Given the description of an element on the screen output the (x, y) to click on. 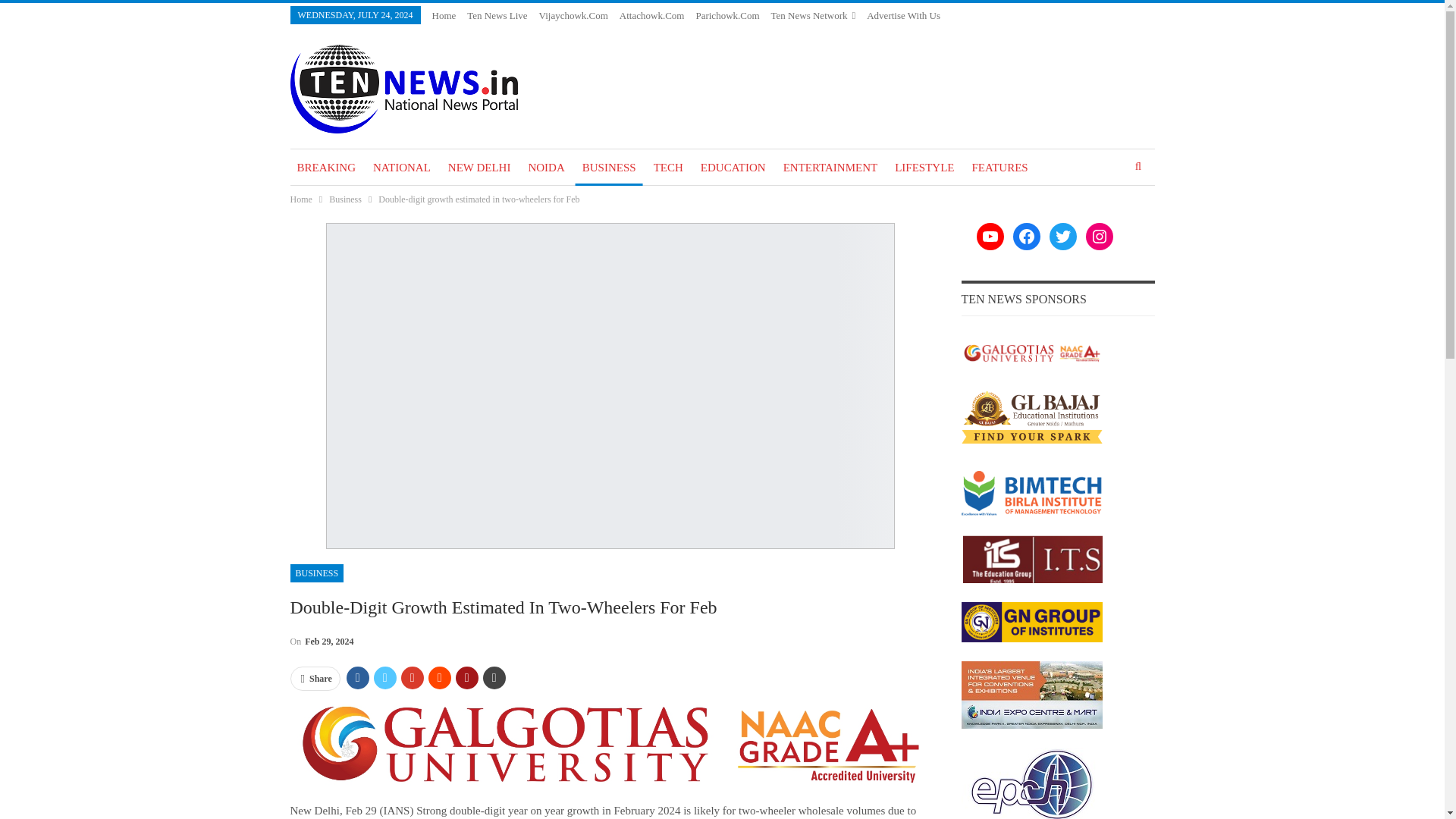
NEW DELHI (479, 167)
Contact Us (888, 34)
NATIONAL (402, 167)
Attachowk.Com (652, 15)
Ten News Live (497, 15)
BUSINESS (316, 573)
ENTERTAINMENT (830, 167)
BUSINESS (609, 167)
Parichowk.Com (726, 15)
FEATURES (1000, 167)
TECH (668, 167)
Home (444, 15)
Careers (936, 34)
Business (345, 199)
EDUCATION (733, 167)
